Given the description of an element on the screen output the (x, y) to click on. 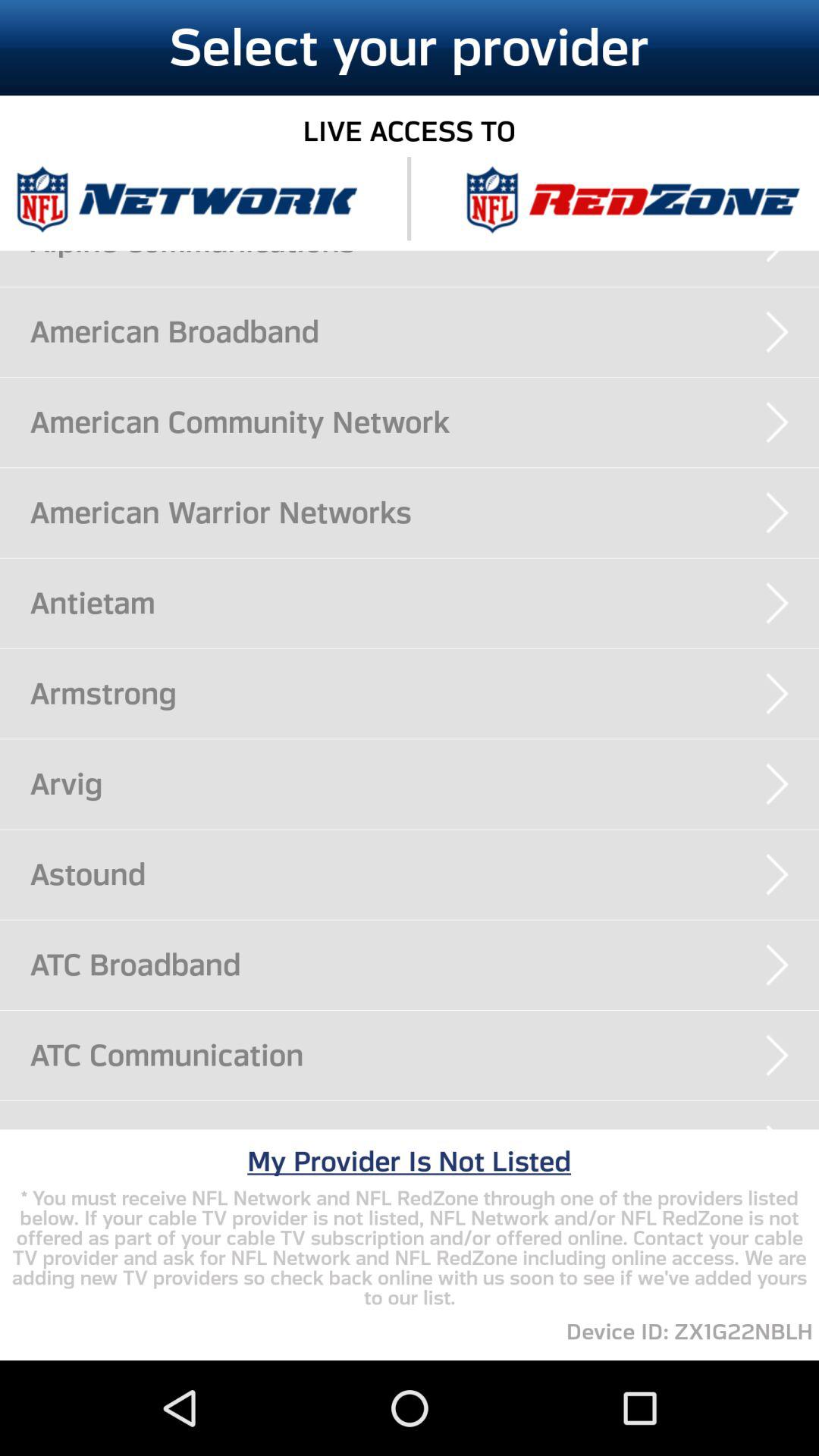
scroll to the antietam app (424, 602)
